Given the description of an element on the screen output the (x, y) to click on. 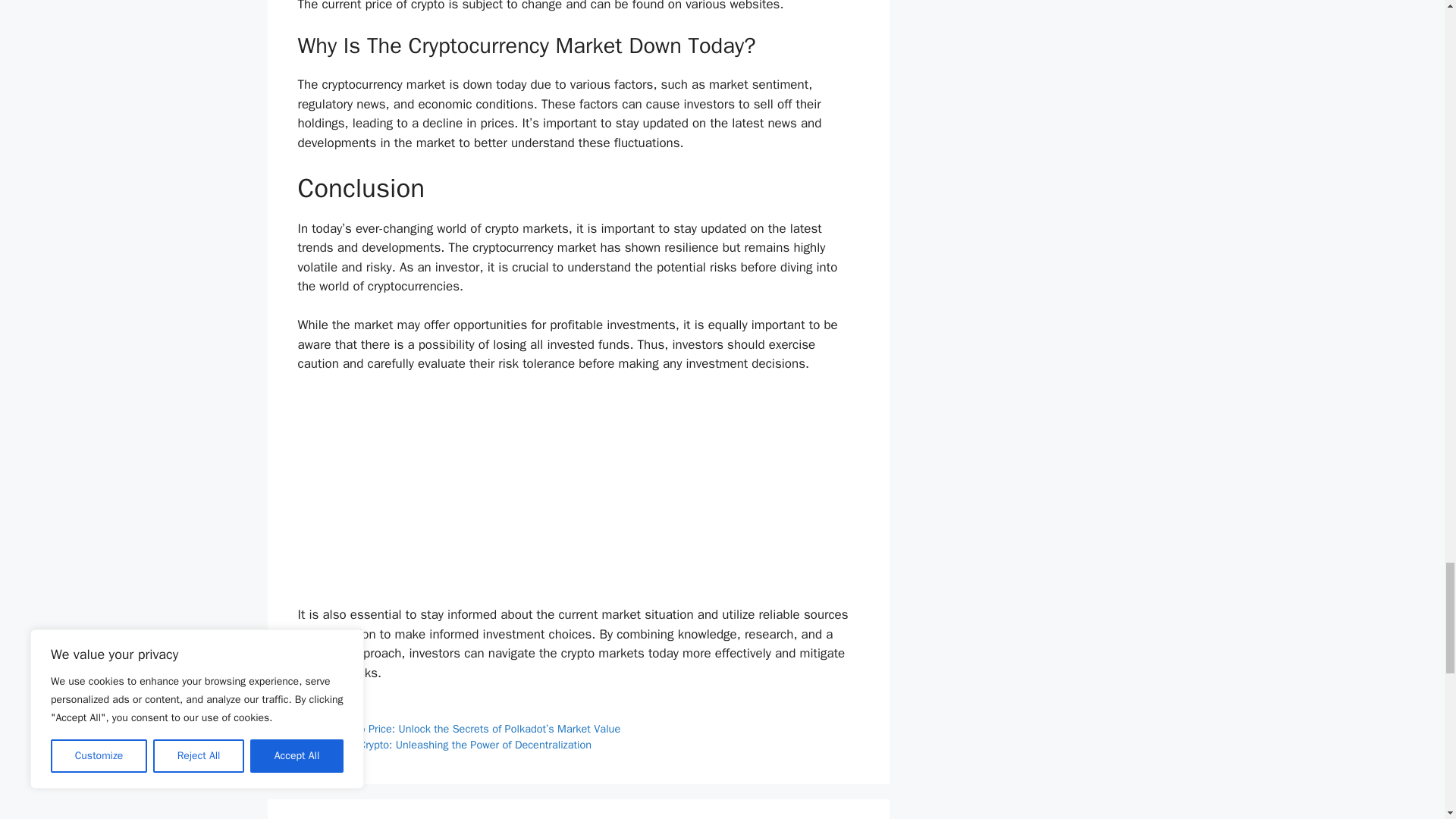
Blog (325, 712)
Web 3.0 Crypto: Unleashing the Power of Decentralization (453, 744)
